Given the description of an element on the screen output the (x, y) to click on. 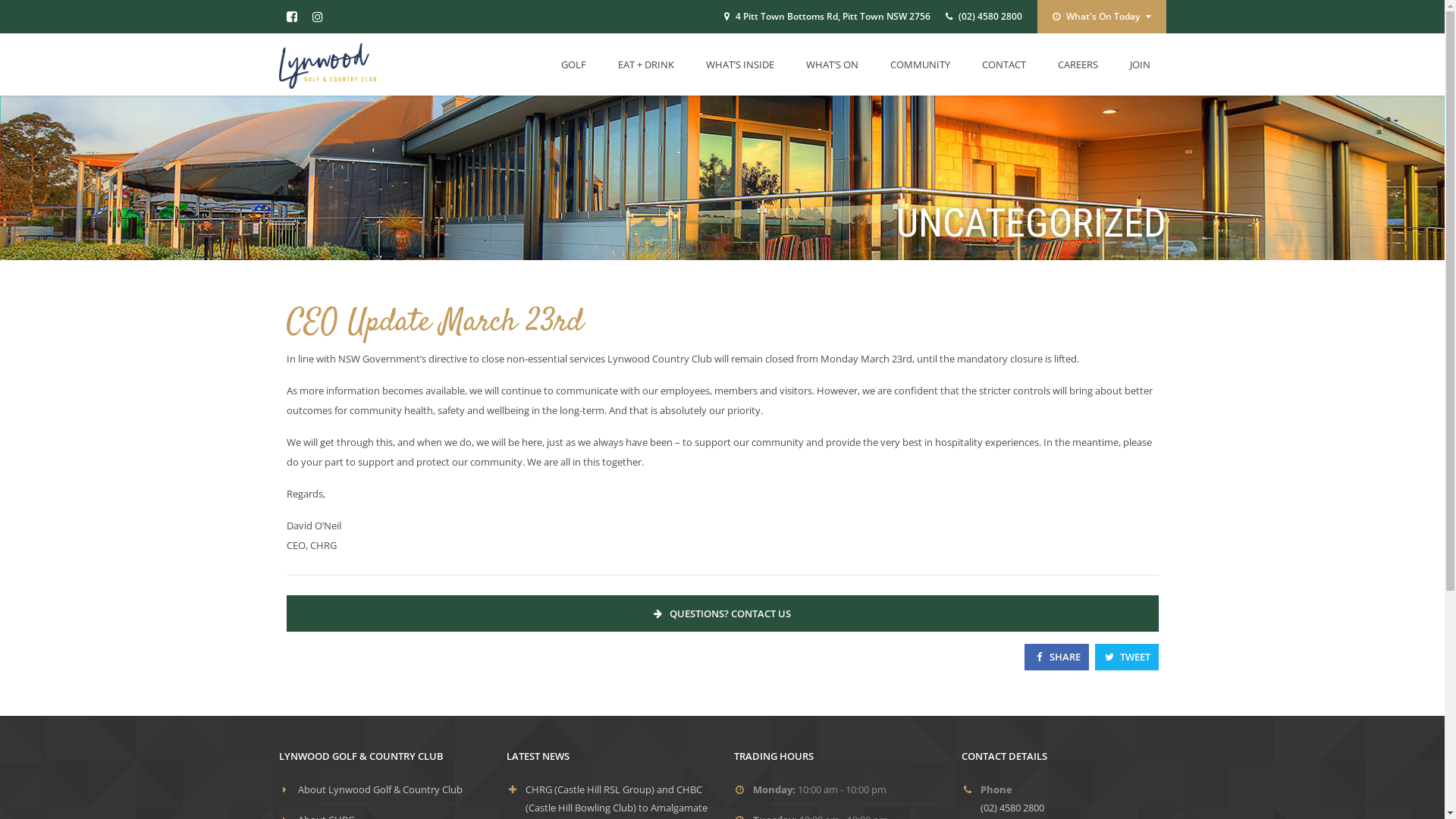
COMMUNITY Element type: text (919, 64)
QUESTIONS? CONTACT US Element type: text (722, 613)
GOLF Element type: text (572, 64)
About Lynwood Golf & Country Club Element type: text (379, 789)
JOIN Element type: text (1139, 64)
TWEET Element type: text (1126, 656)
CONTACT Element type: text (1003, 64)
CAREERS Element type: text (1077, 64)
EAT + DRINK Element type: text (646, 64)
(02) 4580 2800 Element type: text (1011, 807)
(02) 4580 2800 Element type: text (990, 15)
SHARE Element type: text (1056, 656)
4 Pitt Town Bottoms Rd, Pitt Town NSW 2756 Element type: text (832, 15)
